Given the description of an element on the screen output the (x, y) to click on. 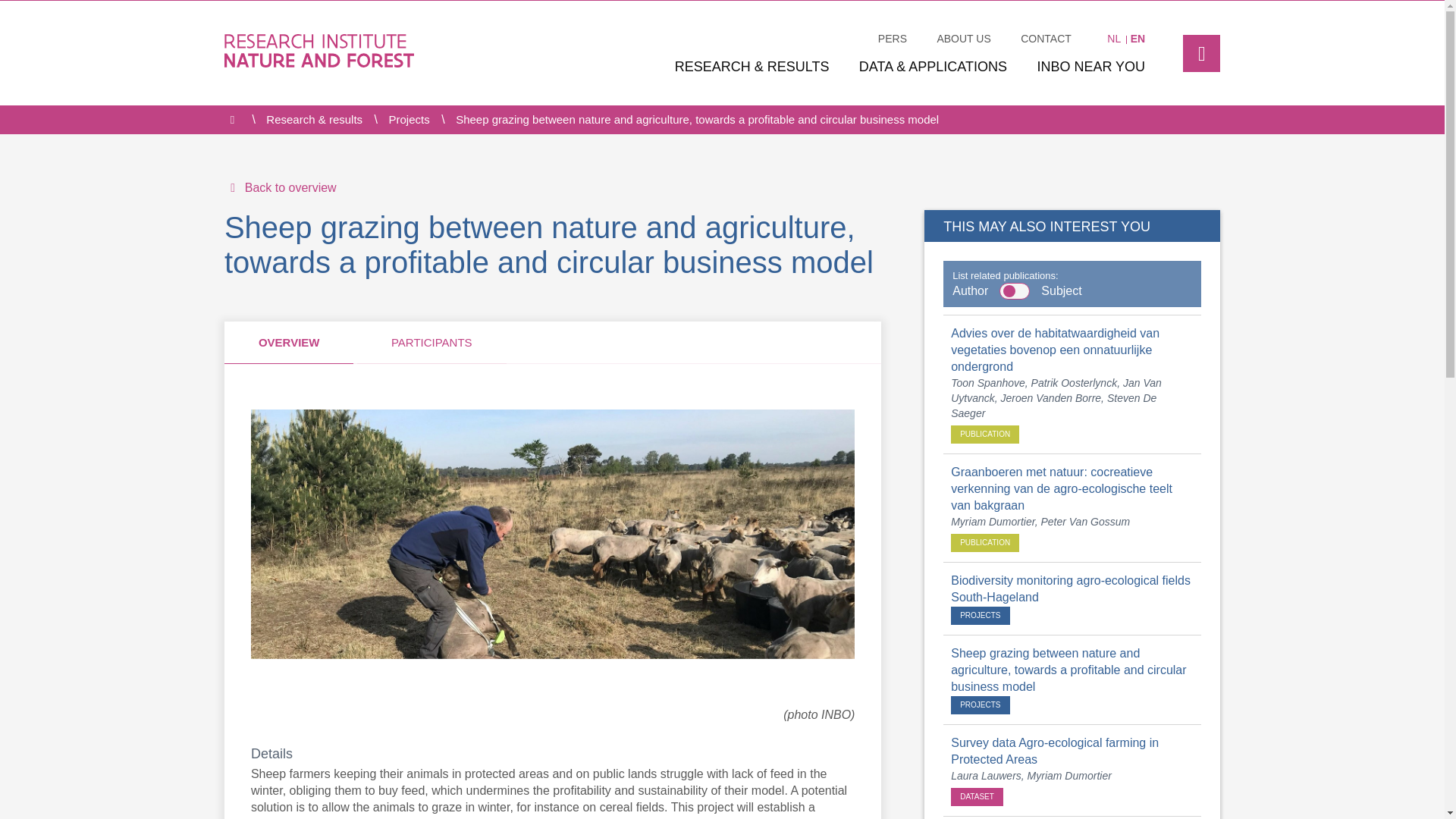
CONTACT (1045, 38)
INBO near you (1090, 66)
EN (1137, 38)
English  (1137, 38)
NL (1113, 38)
PERS (892, 38)
Contact (1045, 38)
Pers (892, 38)
Nederlands  (1113, 38)
INBO NEAR YOU (1090, 66)
